Given the description of an element on the screen output the (x, y) to click on. 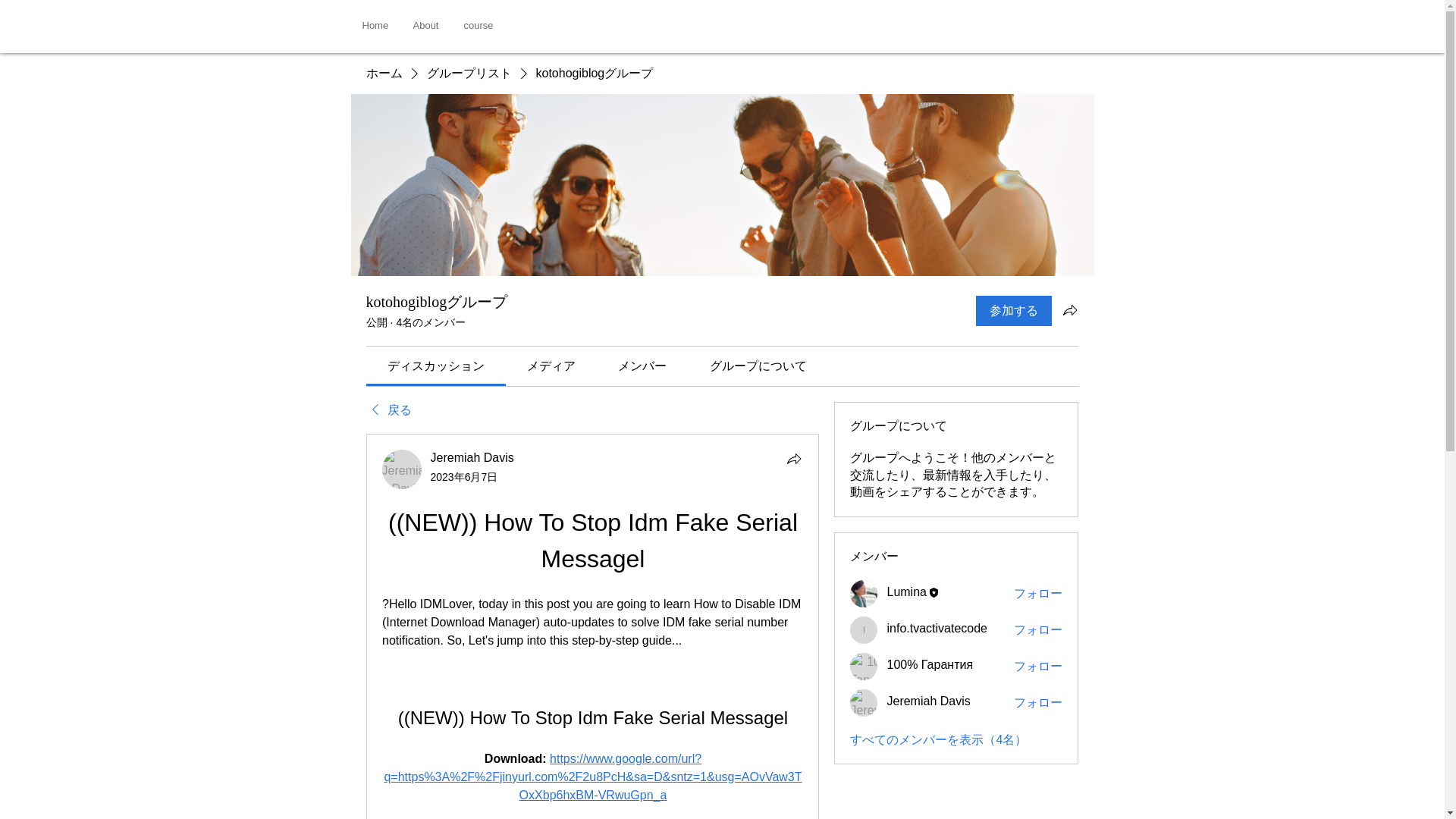
Jeremiah Davis (401, 468)
About (426, 25)
Lumina (906, 591)
Home (375, 25)
info.tvactivatecode (936, 627)
Jeremiah Davis (863, 702)
course (478, 25)
Lumina (863, 593)
info.tvactivatecode (863, 629)
Jeremiah Davis (471, 457)
Jeremiah Davis (927, 700)
